Given the description of an element on the screen output the (x, y) to click on. 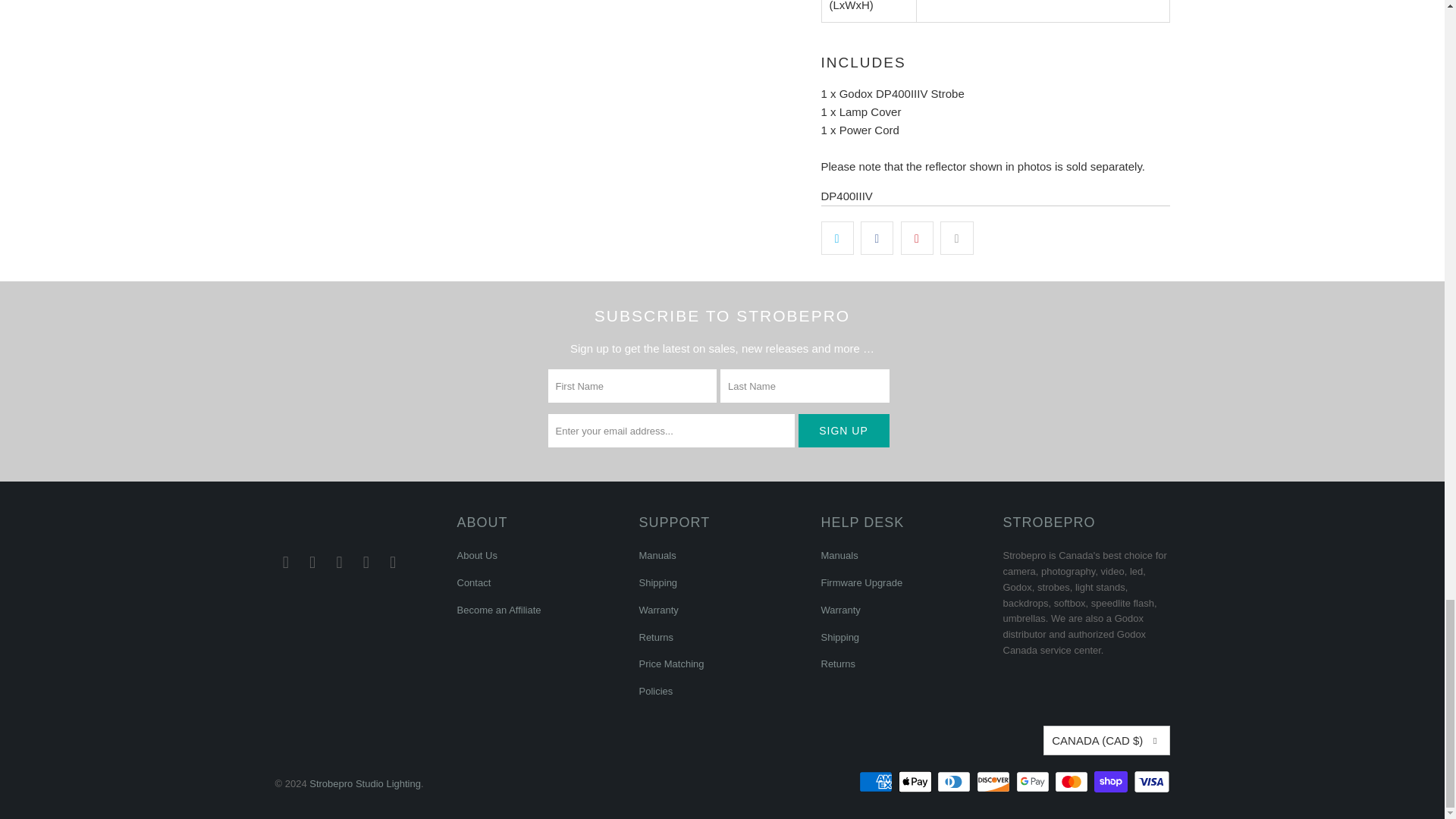
American Express (877, 781)
Sign Up (842, 430)
Google Pay (1034, 781)
Shop Pay (1112, 781)
Diners Club (955, 781)
Discover (994, 781)
Apple Pay (916, 781)
Visa (1150, 781)
Mastercard (1072, 781)
Share this on Twitter (837, 237)
